Given the description of an element on the screen output the (x, y) to click on. 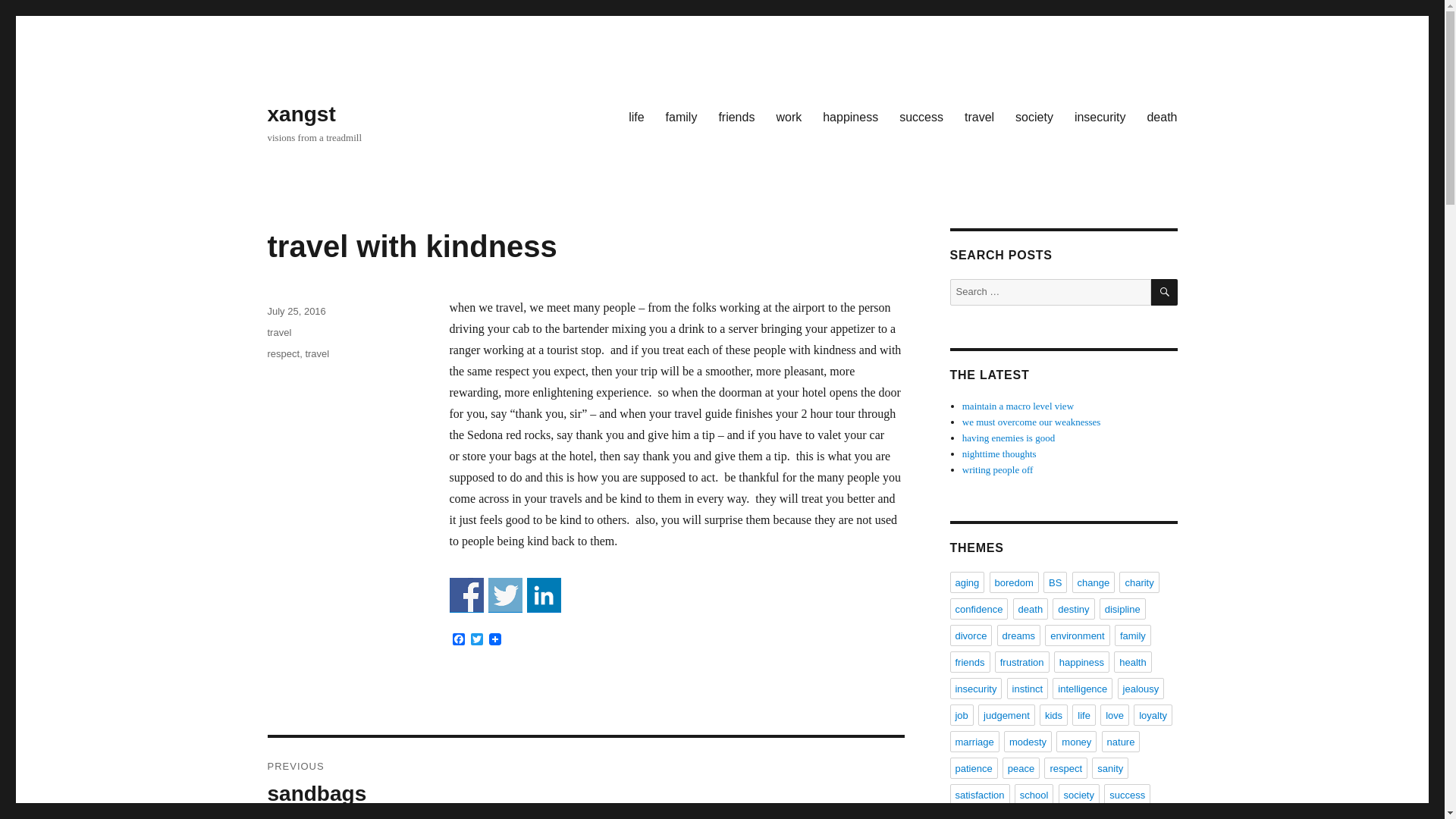
death (1030, 608)
Share on Facebook (465, 594)
xangst (300, 114)
confidence (978, 608)
death (1161, 116)
destiny (1073, 608)
SEARCH (1164, 292)
work (788, 116)
having enemies is good (1008, 437)
Share on Linkedin (542, 594)
happiness (850, 116)
travel (978, 116)
travel (316, 353)
insecurity (1100, 116)
July 25, 2016 (295, 310)
